Given the description of an element on the screen output the (x, y) to click on. 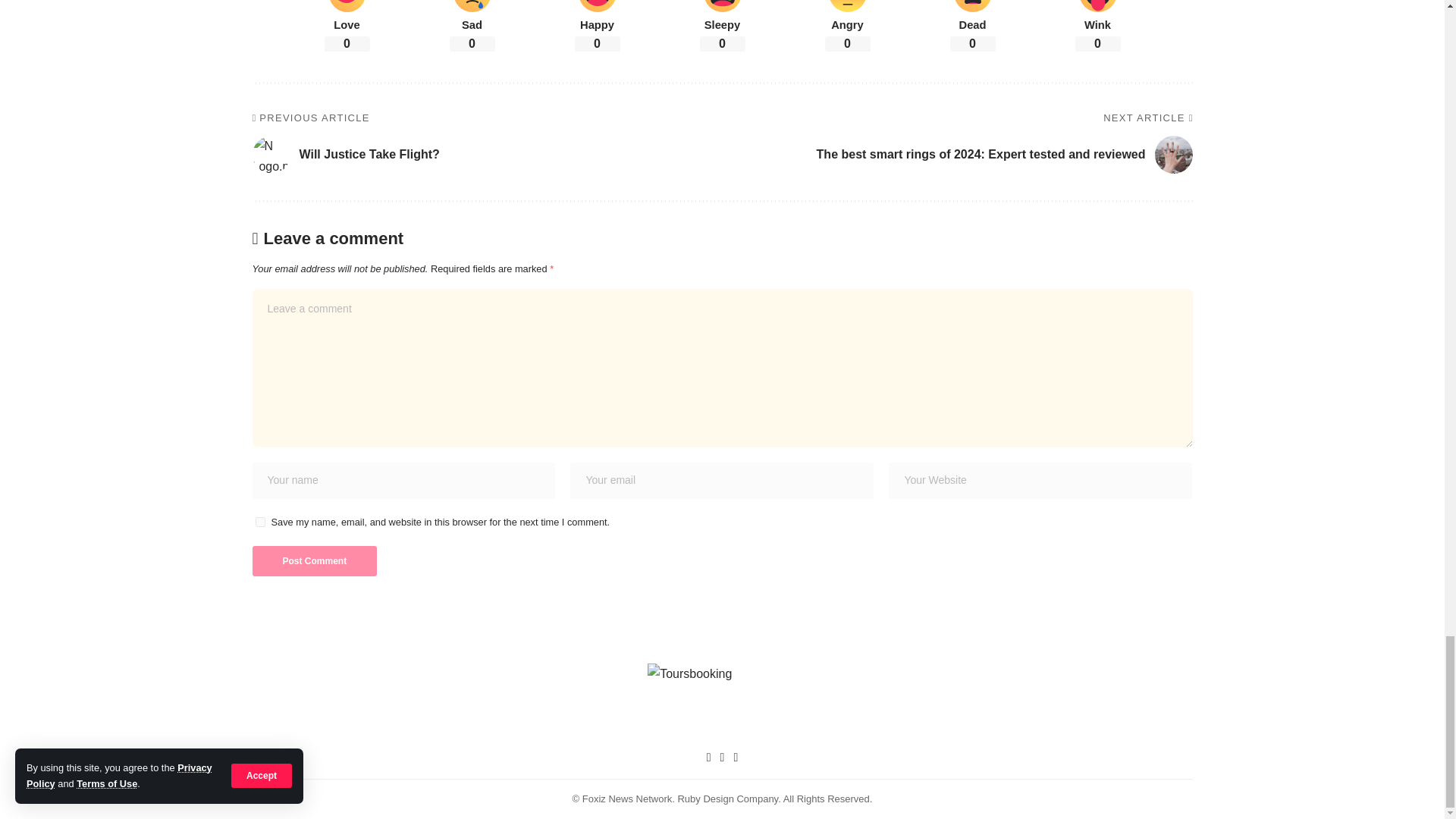
Toursbooking (721, 701)
yes (259, 521)
Post Comment (314, 561)
